Given the description of an element on the screen output the (x, y) to click on. 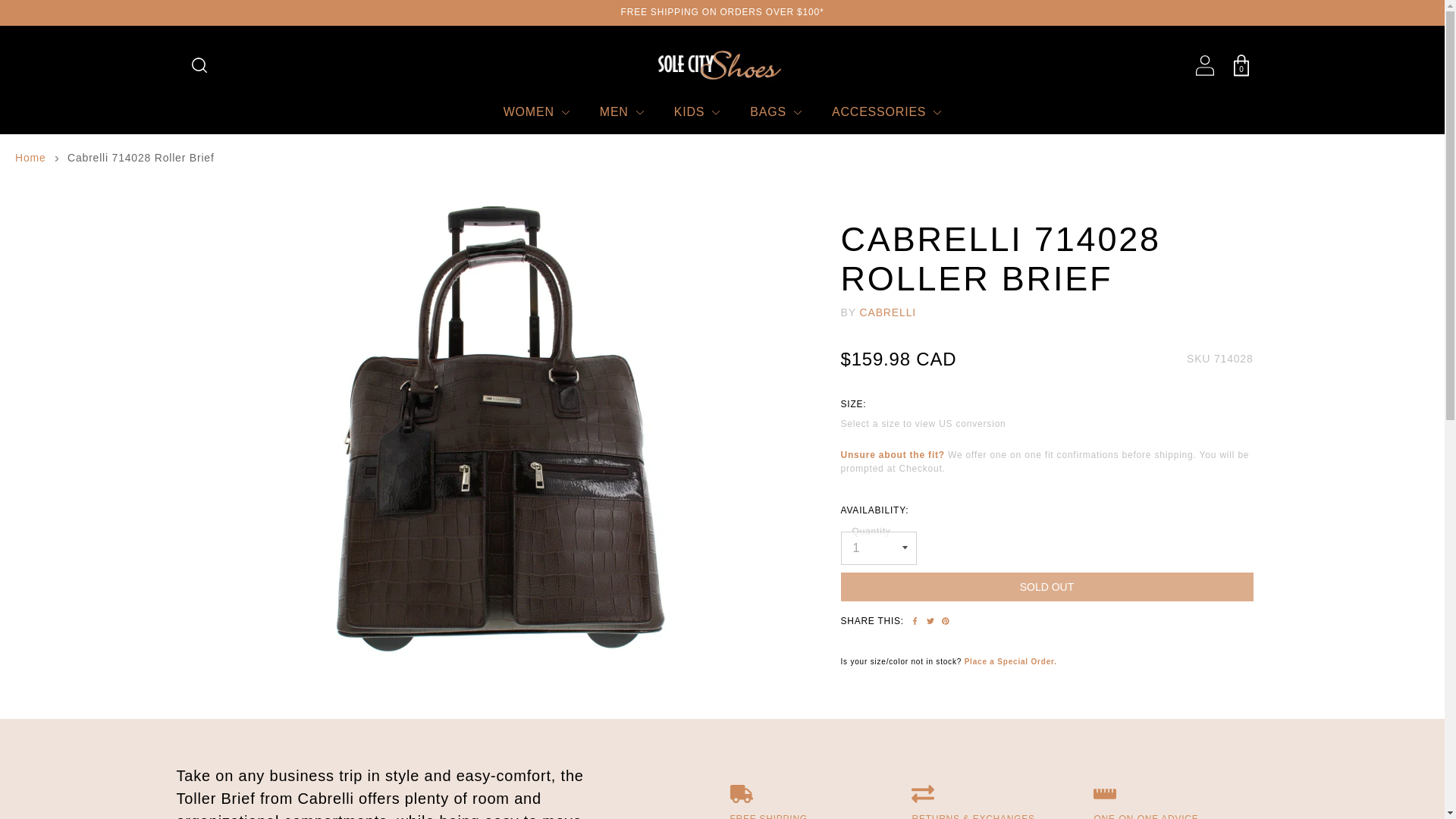
Sole City Shoes (722, 65)
Search (198, 64)
Open Cart (1240, 65)
Cabrelli 714028  Roller Brief (500, 658)
Account (1203, 65)
Home (30, 157)
